Given the description of an element on the screen output the (x, y) to click on. 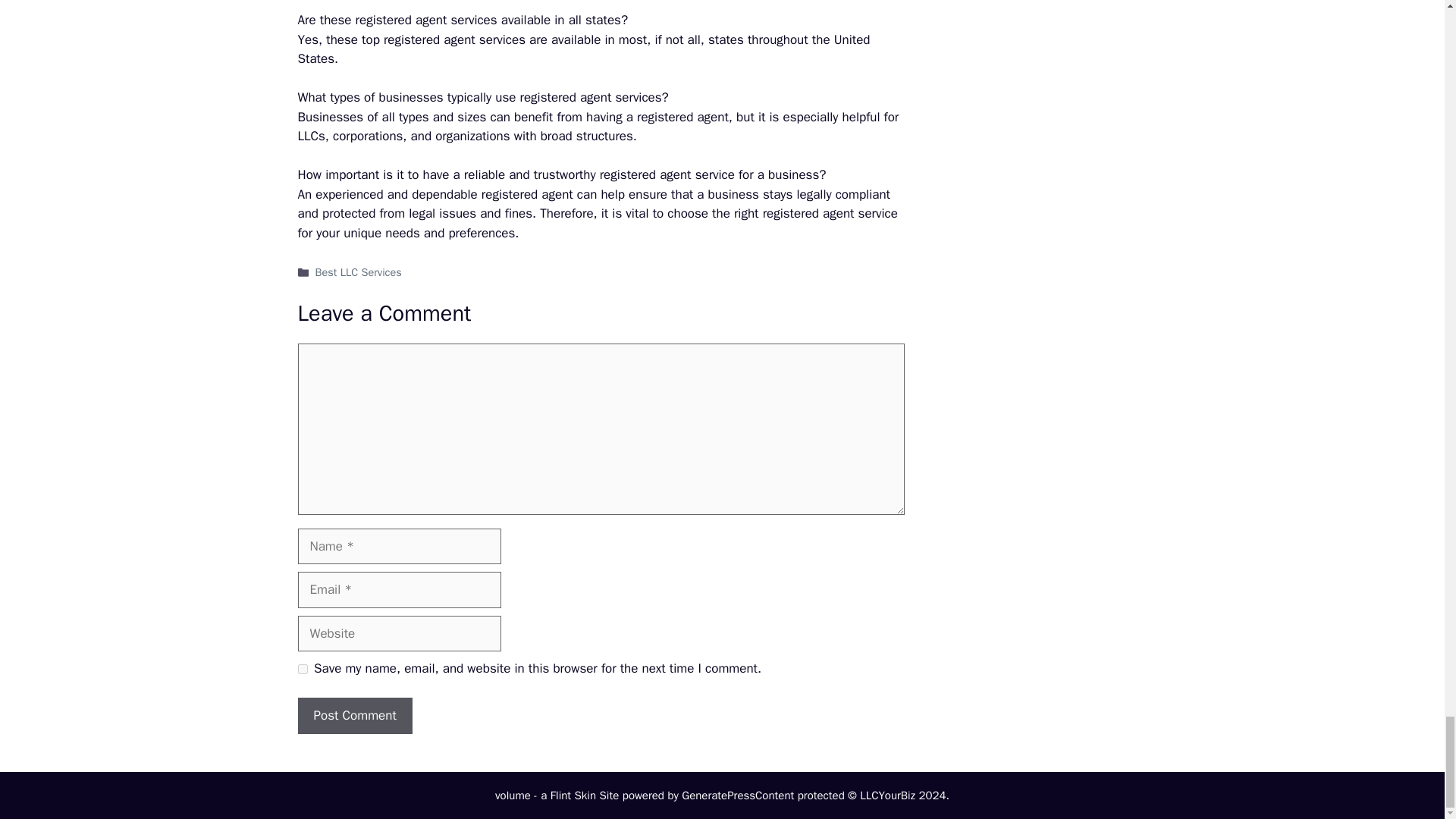
Post Comment (354, 715)
yes (302, 669)
Post Comment (354, 715)
Best LLC Services (358, 272)
